Given the description of an element on the screen output the (x, y) to click on. 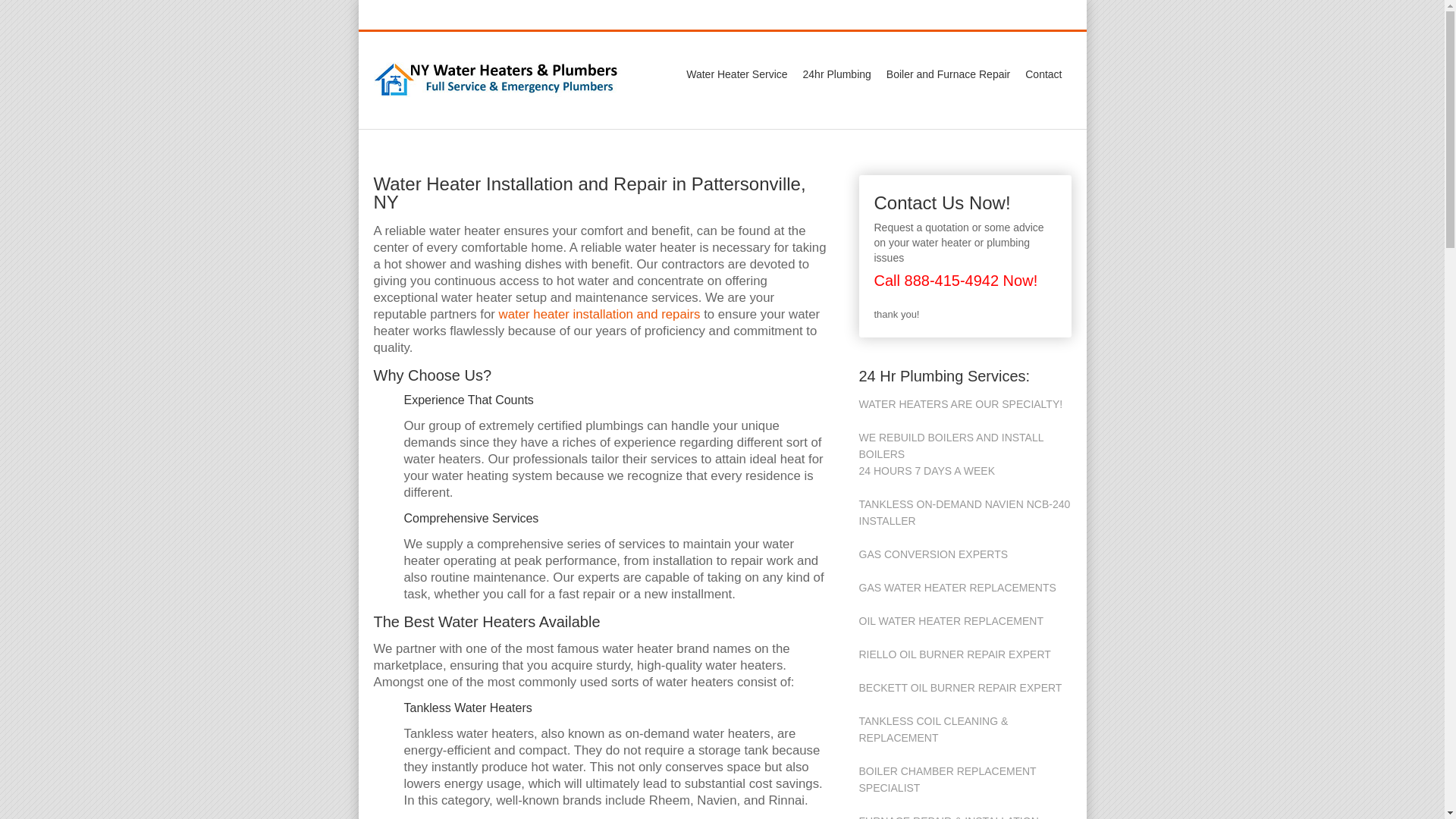
water heater installation and repairs (599, 314)
Boiler and Furnace Repair (948, 74)
Water Heater Service (736, 74)
24hr Plumbing (836, 74)
Contact (1043, 74)
888-415-4942 (897, 15)
Call 888-415-4942 Now! (954, 280)
